Given the description of an element on the screen output the (x, y) to click on. 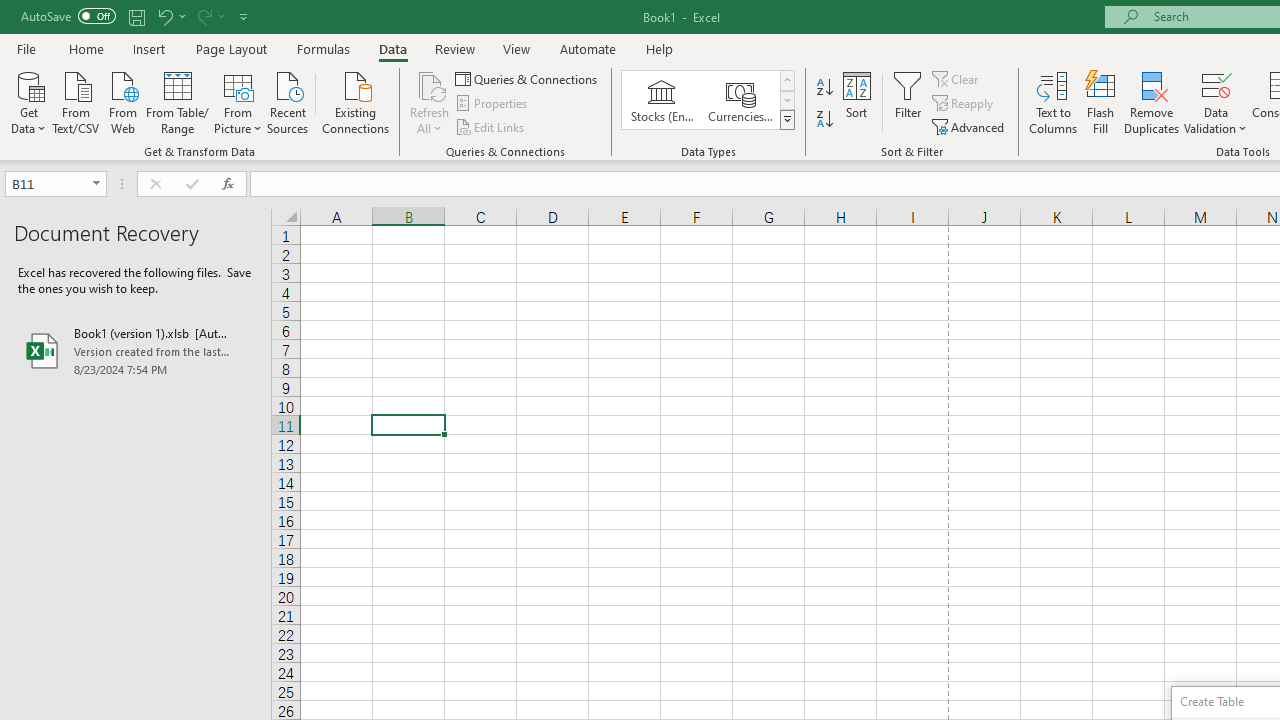
Remove Duplicates (1151, 102)
Stocks (English) (662, 100)
Recent Sources (287, 101)
From Web (122, 101)
Sort Z to A (824, 119)
Currencies (English) (740, 100)
Class: NetUIImage (787, 119)
Advanced... (970, 126)
